Given the description of an element on the screen output the (x, y) to click on. 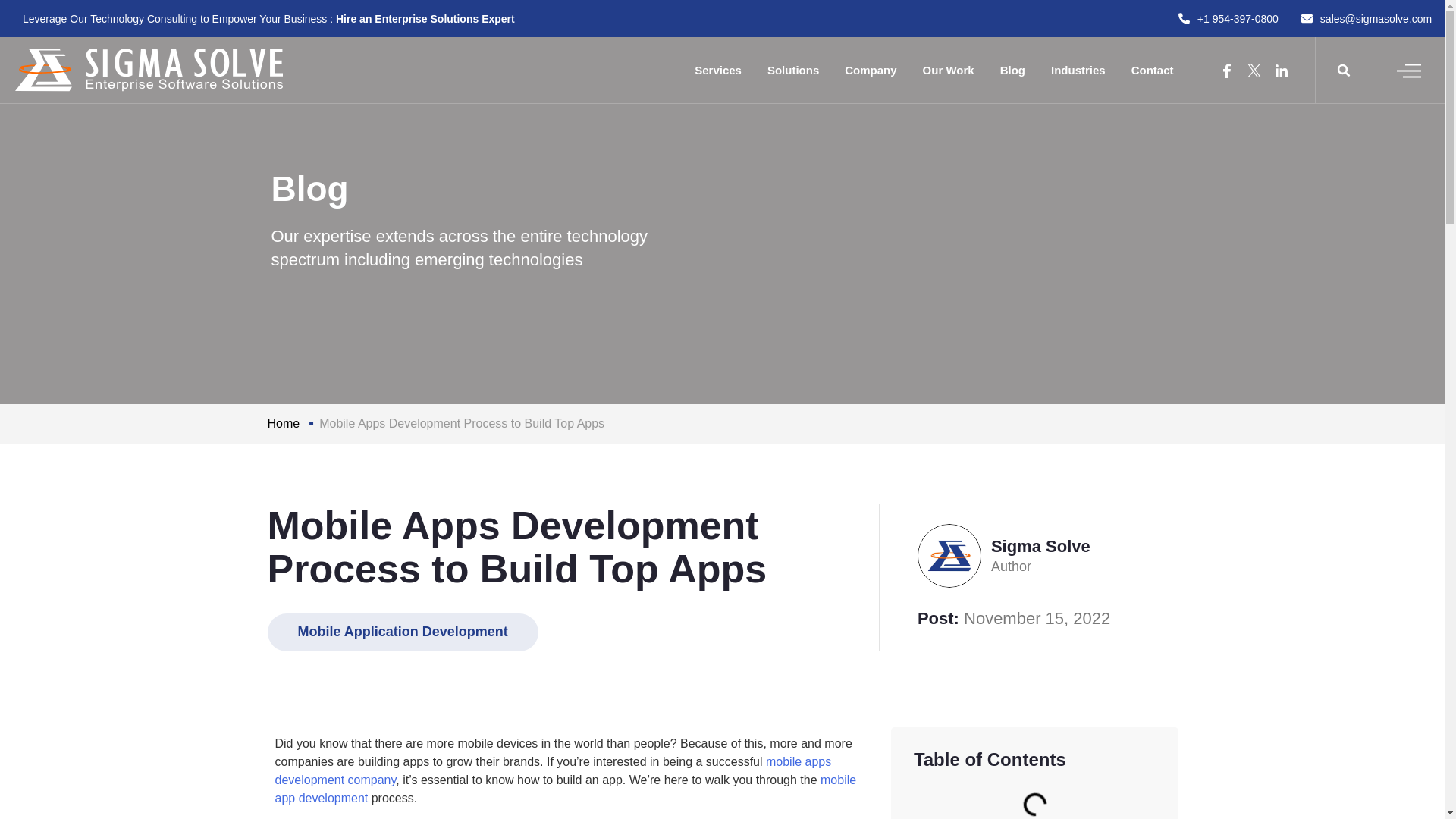
Services (717, 69)
Solutions (792, 69)
